Given the description of an element on the screen output the (x, y) to click on. 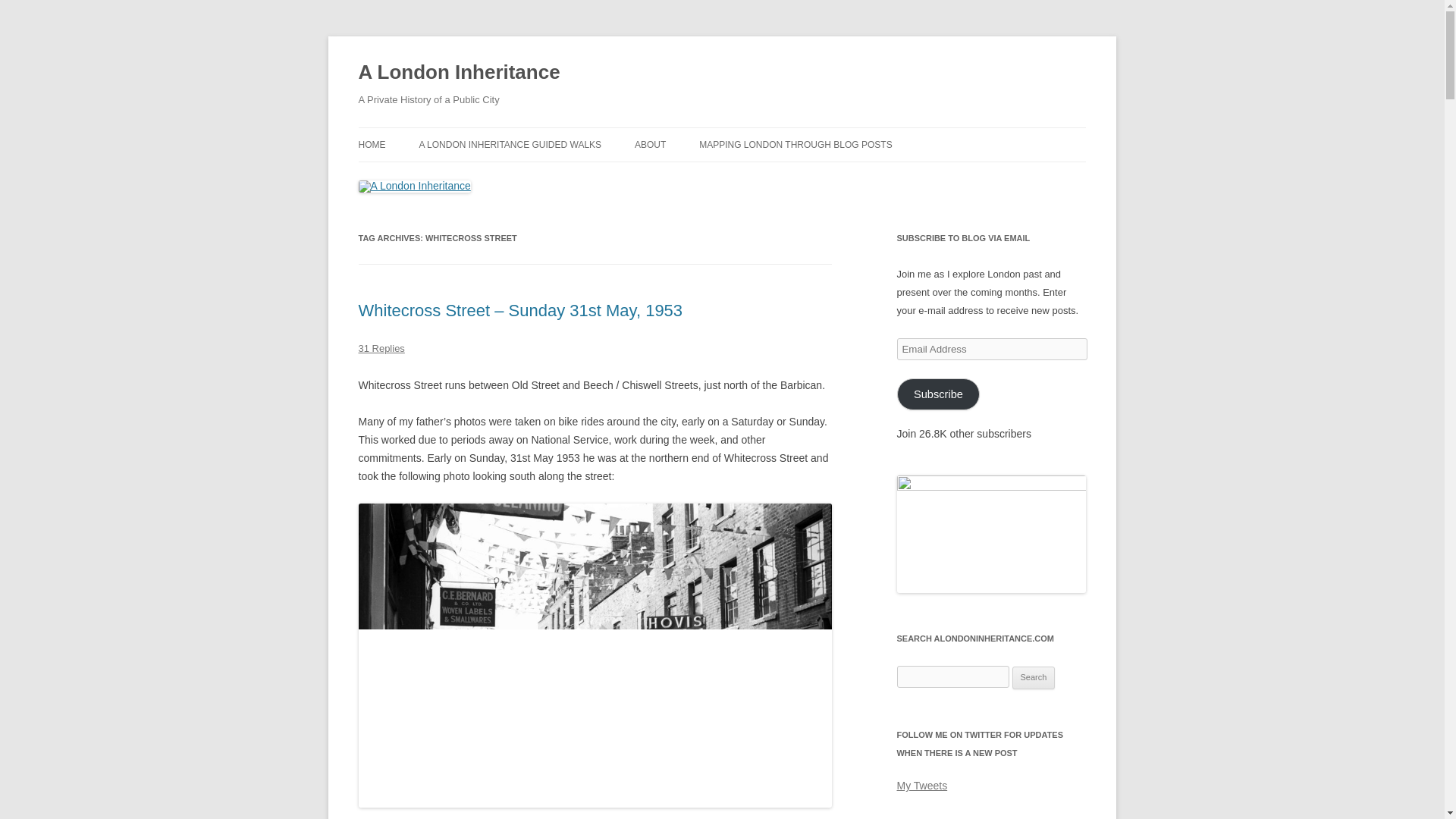
MAPPING LONDON THROUGH BLOG POSTS (794, 144)
ABOUT (649, 144)
A London Inheritance (458, 72)
A LONDON INHERITANCE GUIDED WALKS (510, 144)
A London Inheritance (458, 72)
31 Replies (381, 348)
A MAP OF ALL MY BLOG POSTS (774, 176)
Search (1033, 677)
